Given the description of an element on the screen output the (x, y) to click on. 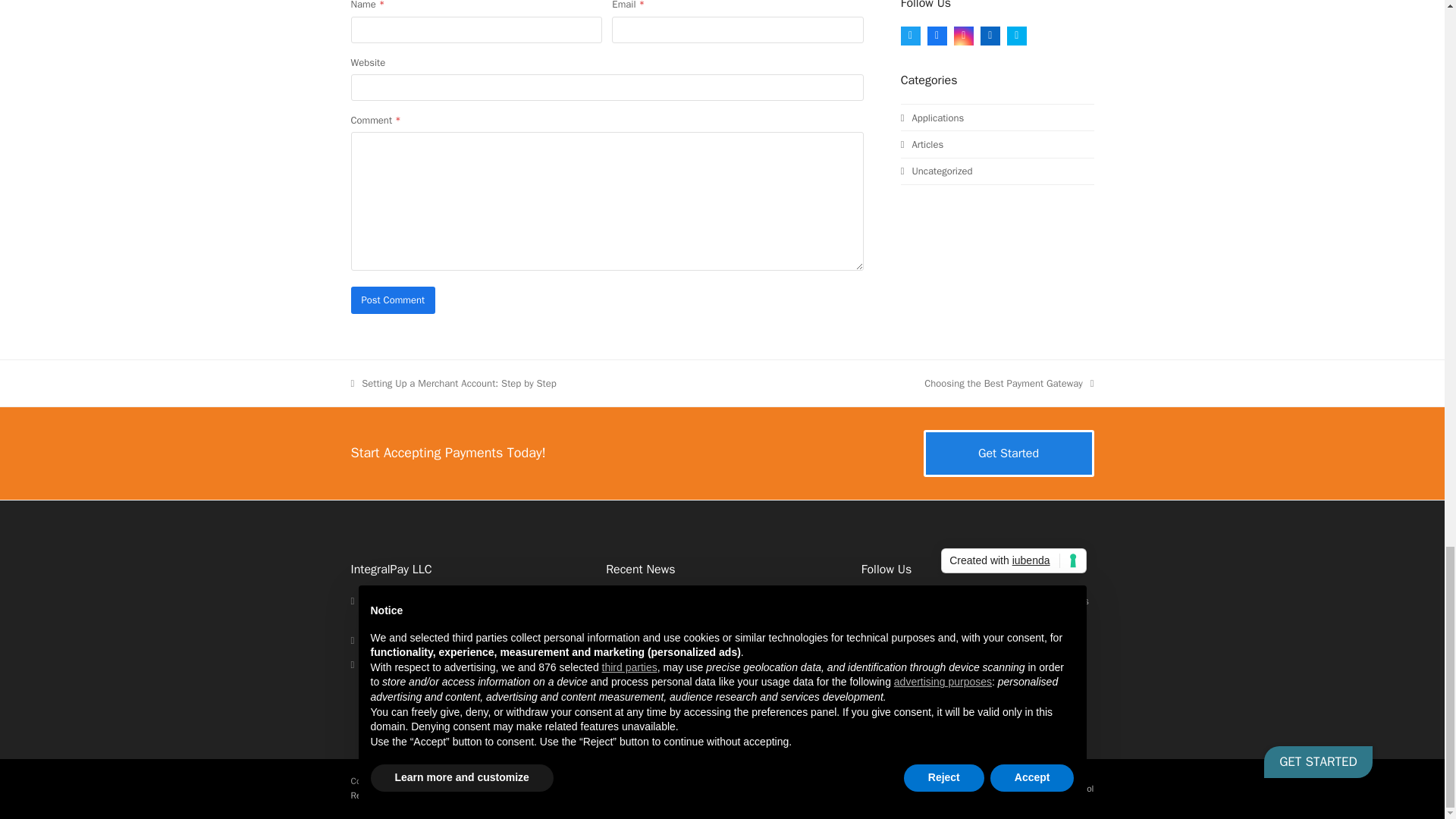
LinkedIn (987, 654)
Skype (1016, 35)
Facebook (913, 654)
Instagram (963, 35)
Twitter (910, 35)
Instagram (951, 654)
Post Comment (392, 299)
Facebook (937, 35)
LinkedIn (989, 35)
Twitter (876, 654)
